Given the description of an element on the screen output the (x, y) to click on. 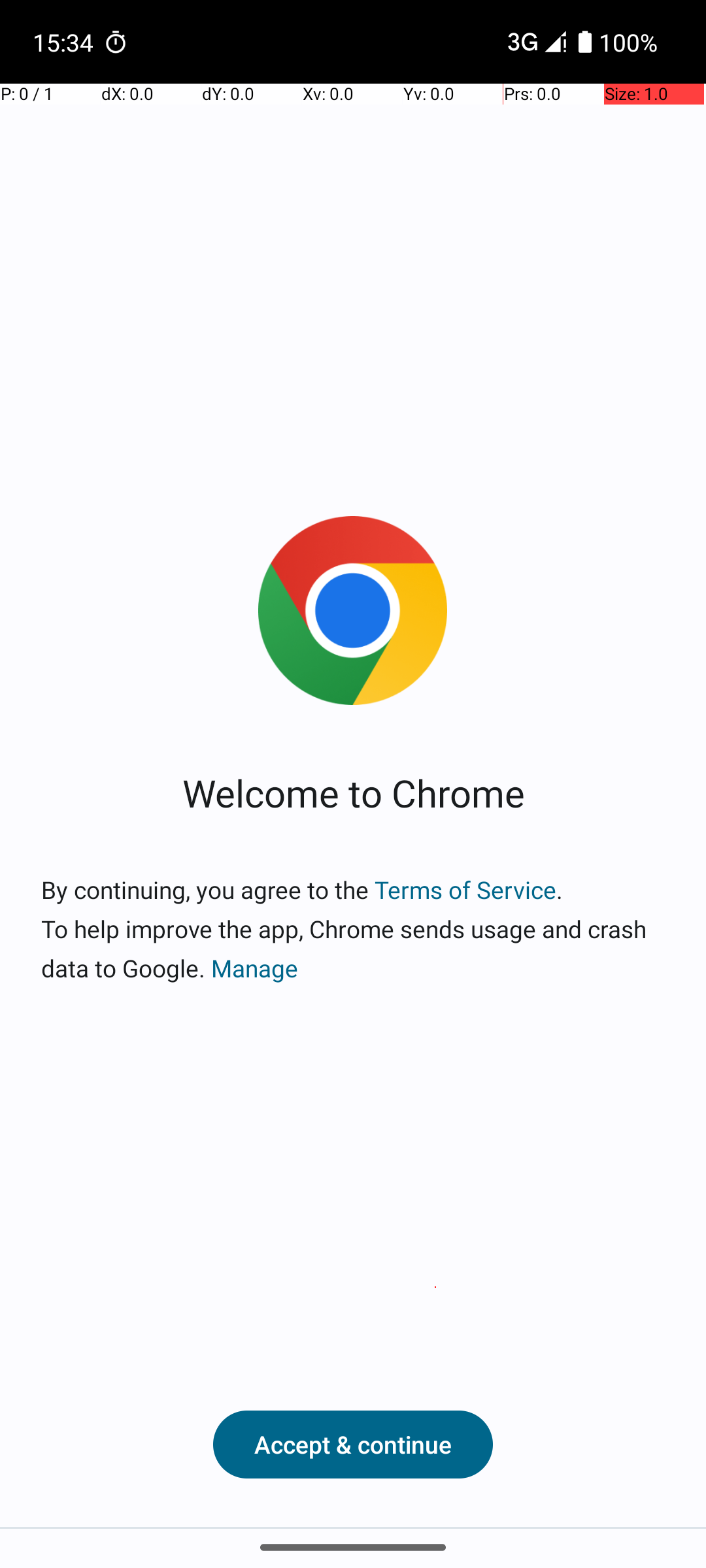
Accept & continue Element type: android.widget.Button (352, 1444)
Welcome to Chrome Element type: android.widget.TextView (352, 792)
By continuing, you agree to the Terms of Service.
To help improve the app, Chrome sends usage and crash data to Google. Manage Element type: android.widget.TextView (352, 928)
